Given the description of an element on the screen output the (x, y) to click on. 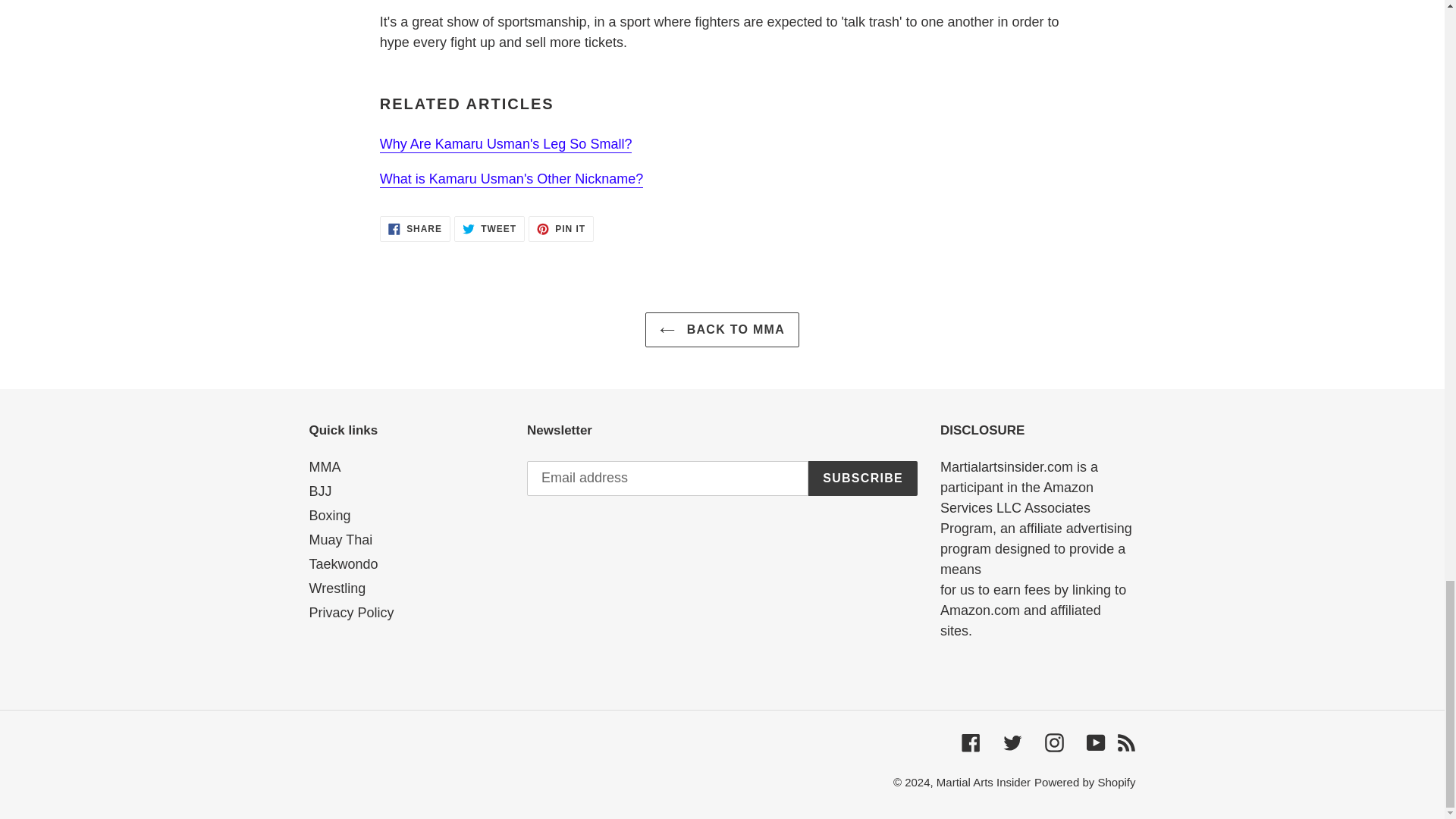
kamaru usman legs (505, 144)
Why Are Kamaru Usman's Leg So Small? (505, 144)
BJJ (414, 228)
What is Kamaru Usman's Other Nickname? (319, 491)
BACK TO MMA (511, 179)
MMA (561, 228)
kamaru usman nickname (722, 329)
